Given the description of an element on the screen output the (x, y) to click on. 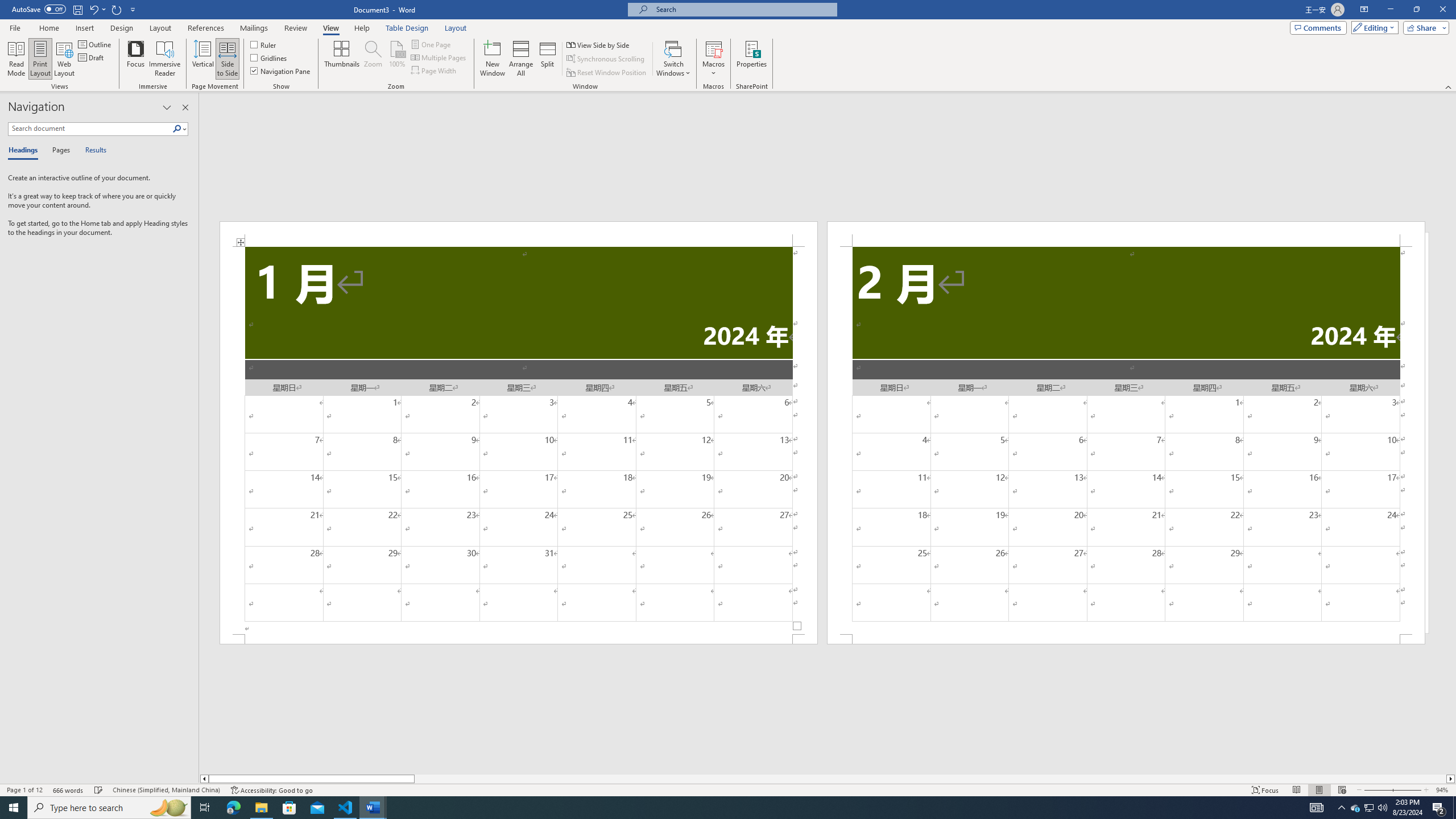
Page 2 content (1126, 439)
100% (396, 58)
Gridlines (269, 56)
